Given the description of an element on the screen output the (x, y) to click on. 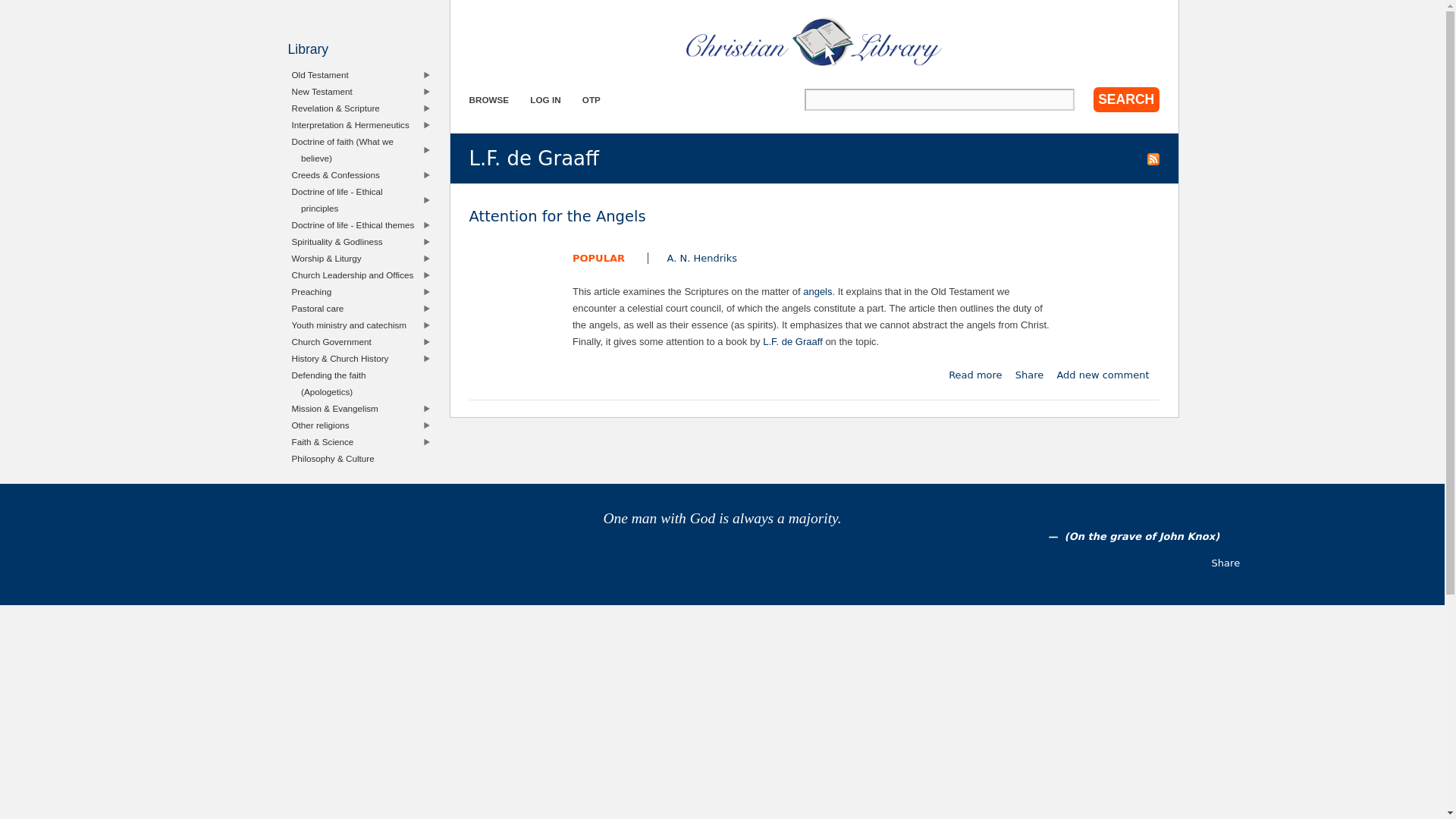
Attention for the Angels (975, 374)
BROWSE (488, 99)
POPULAR (598, 257)
Attention for the Angels (556, 216)
OTP (590, 99)
Home (975, 374)
angels (813, 41)
L.F. de Graaff (817, 291)
Enter the terms you wish to search for. (792, 341)
Add new comment (938, 99)
Old Testament (1102, 374)
Add a new comment to this page. (359, 74)
Share (1102, 374)
LOG IN (1028, 374)
